Given the description of an element on the screen output the (x, y) to click on. 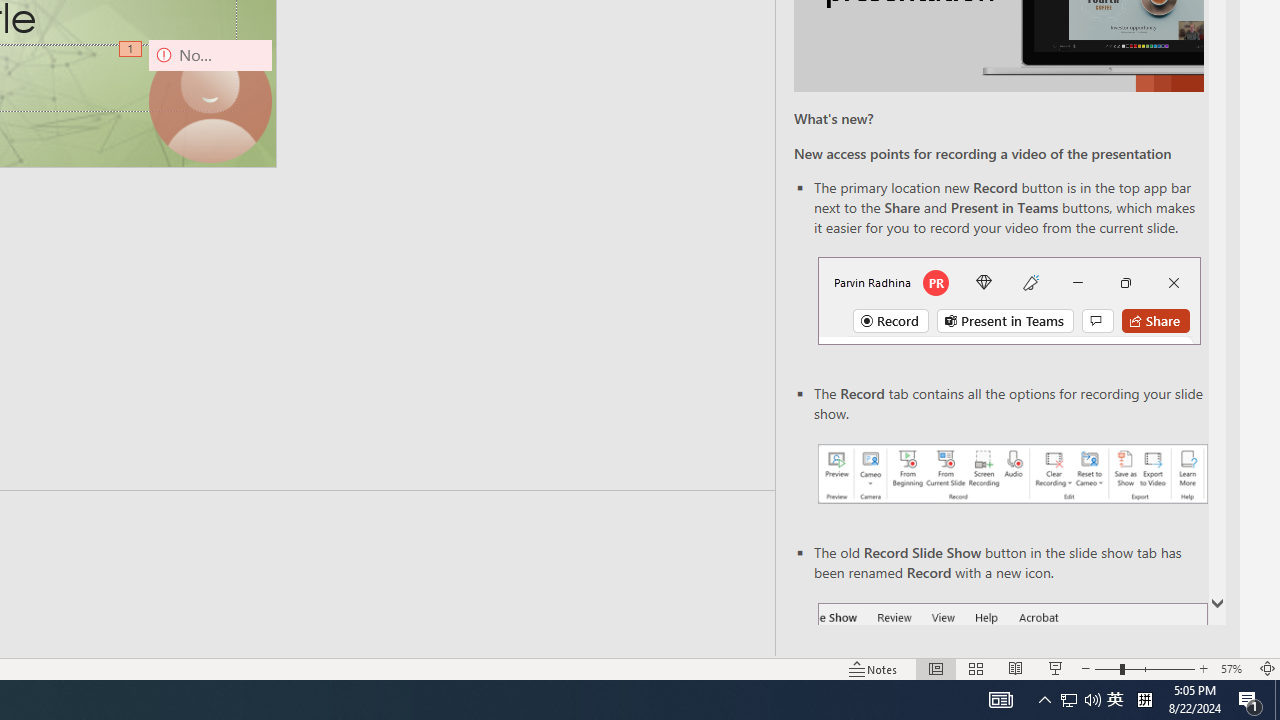
Record your presentations screenshot one (1012, 473)
Animation, sequence 1, on Camera 9 (131, 50)
Record button in top bar (1008, 300)
Zoom 57% (1234, 668)
Camera 9, No camera detected. (210, 101)
